Given the description of an element on the screen output the (x, y) to click on. 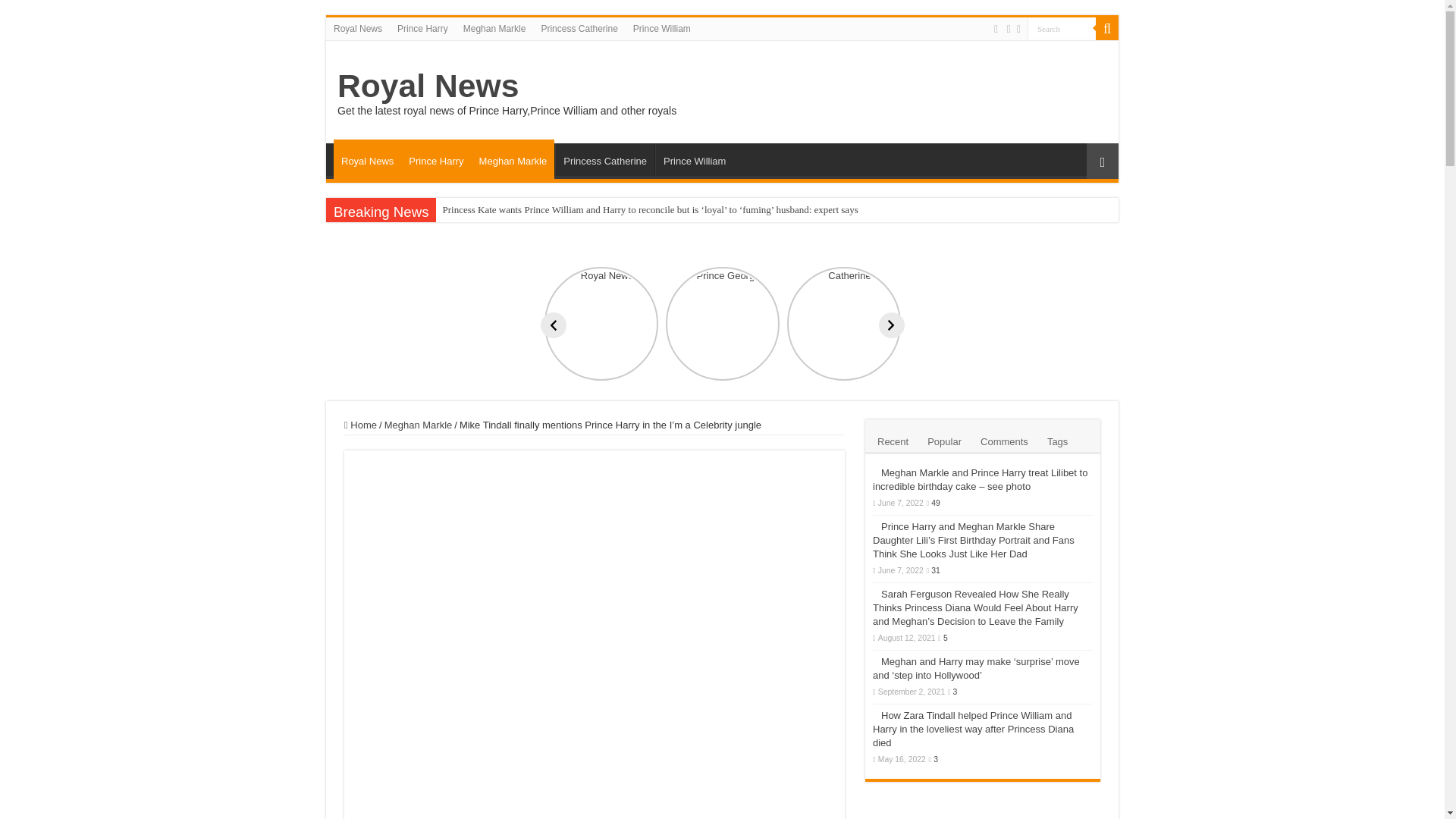
Meghan Markle (418, 424)
Meghan Markle (494, 28)
Princess Catherine (578, 28)
Princess Catherine (603, 159)
Prince Harry (435, 159)
Royal News (358, 28)
Home (360, 424)
Search (1061, 28)
Prince William (662, 28)
Search (1107, 28)
